Given the description of an element on the screen output the (x, y) to click on. 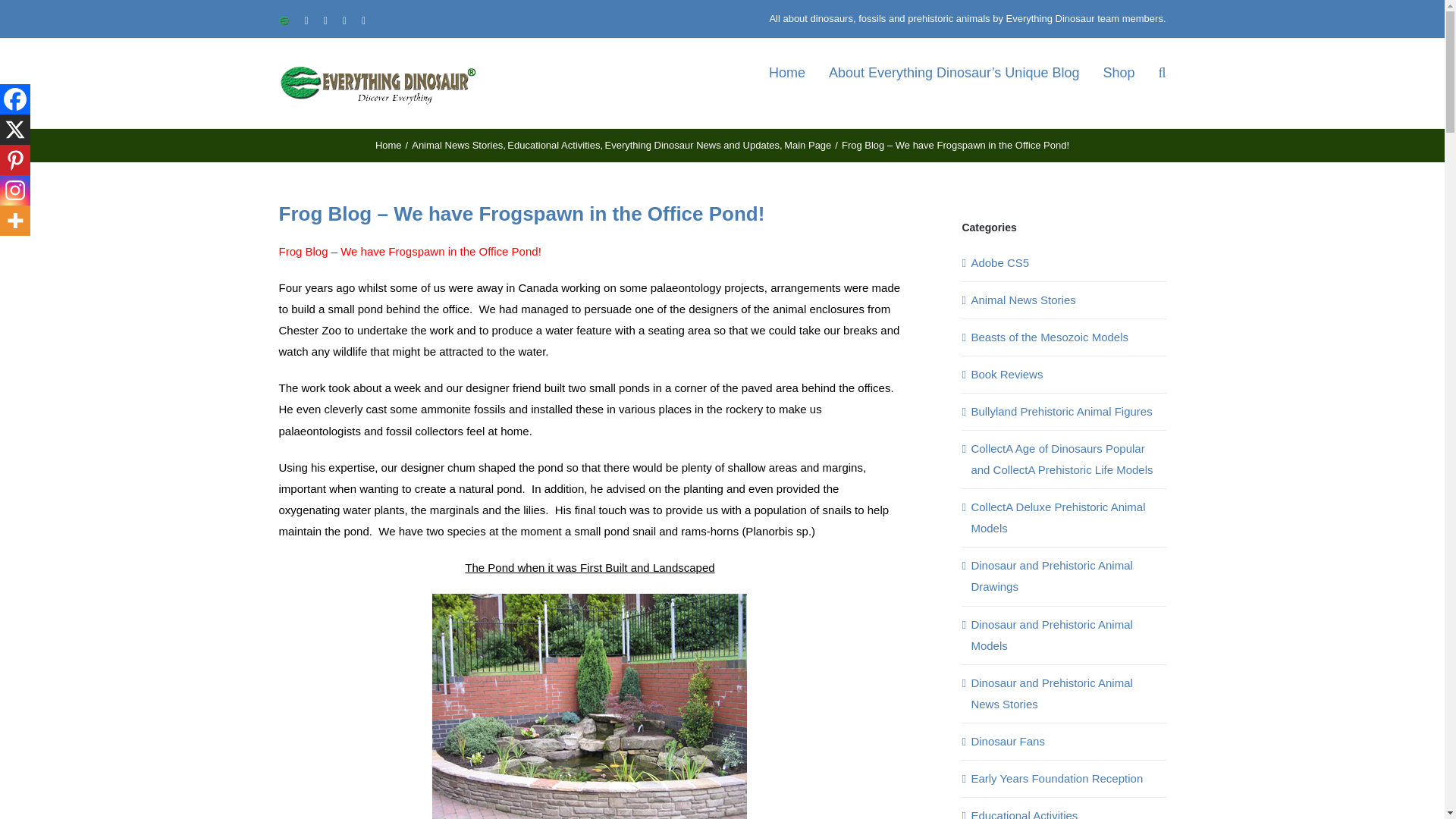
X (15, 129)
Instagram (15, 190)
Pinterest (15, 159)
Facebook (15, 99)
Main Page (807, 144)
Everything Dinosaur News and Updates (692, 144)
Home (388, 144)
Educational Activities (552, 144)
Animal News Stories (457, 144)
Website (284, 20)
